Given the description of an element on the screen output the (x, y) to click on. 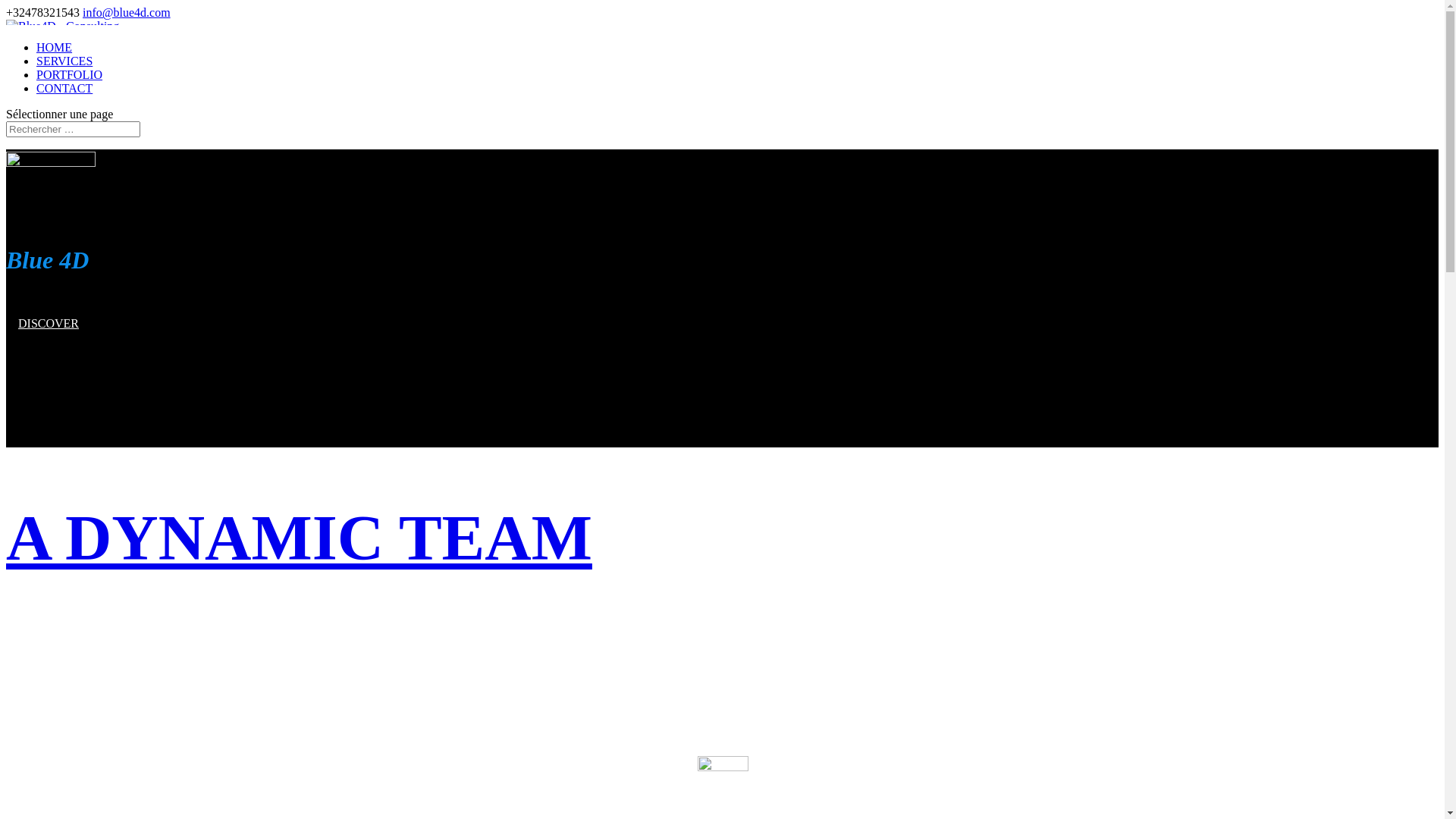
HOME Element type: text (54, 46)
Rechercher: Element type: hover (73, 129)
PORTFOLIO Element type: text (69, 74)
SERVICES Element type: text (64, 60)
info@blue4d.com Element type: text (126, 12)
A DYNAMIC TEAM Element type: text (299, 537)
DISCOVER Element type: text (48, 634)
CONTACT Element type: text (64, 87)
DISCOVER Element type: text (48, 323)
